Given the description of an element on the screen output the (x, y) to click on. 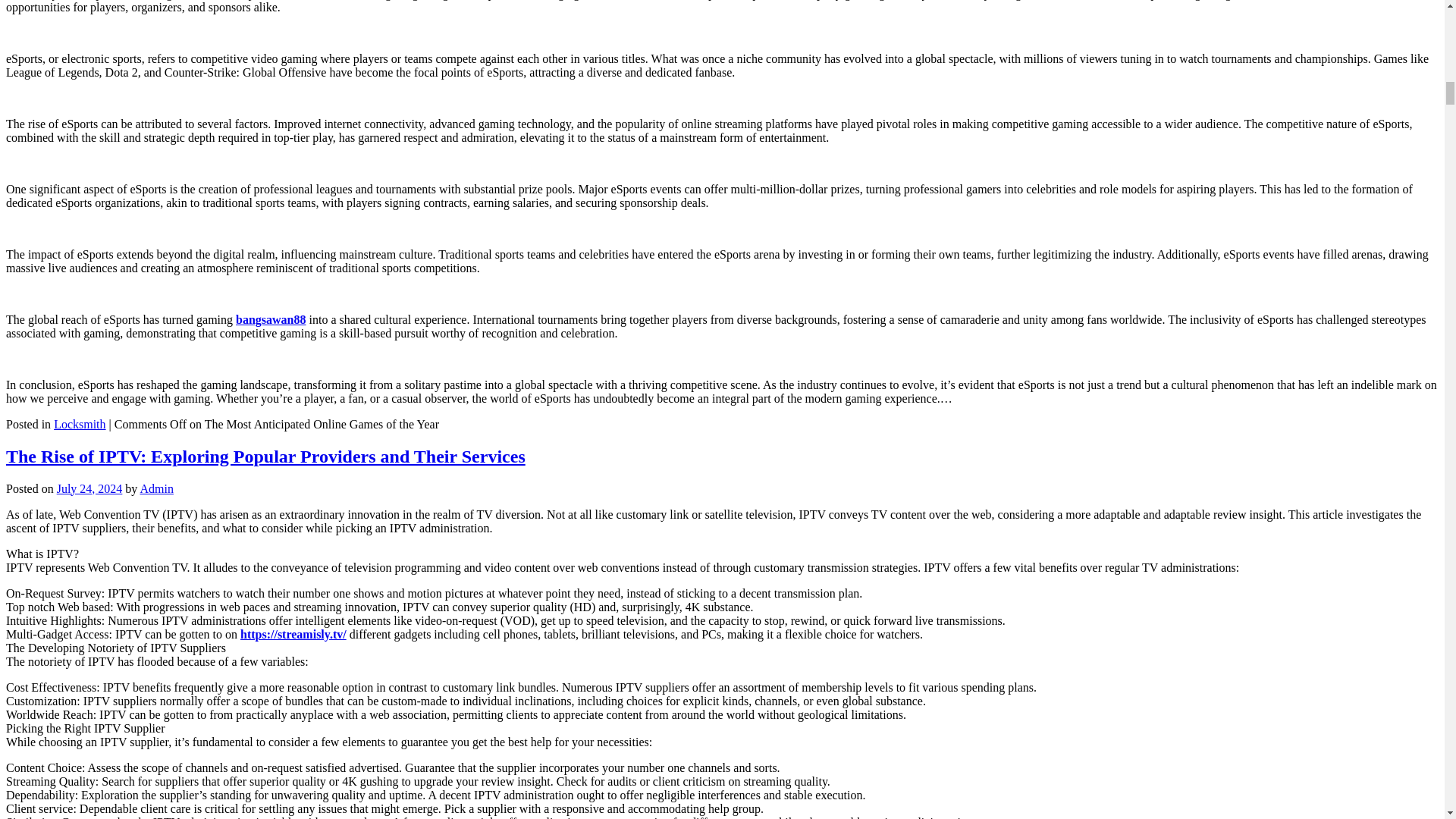
View all posts by Admin (156, 488)
